Given the description of an element on the screen output the (x, y) to click on. 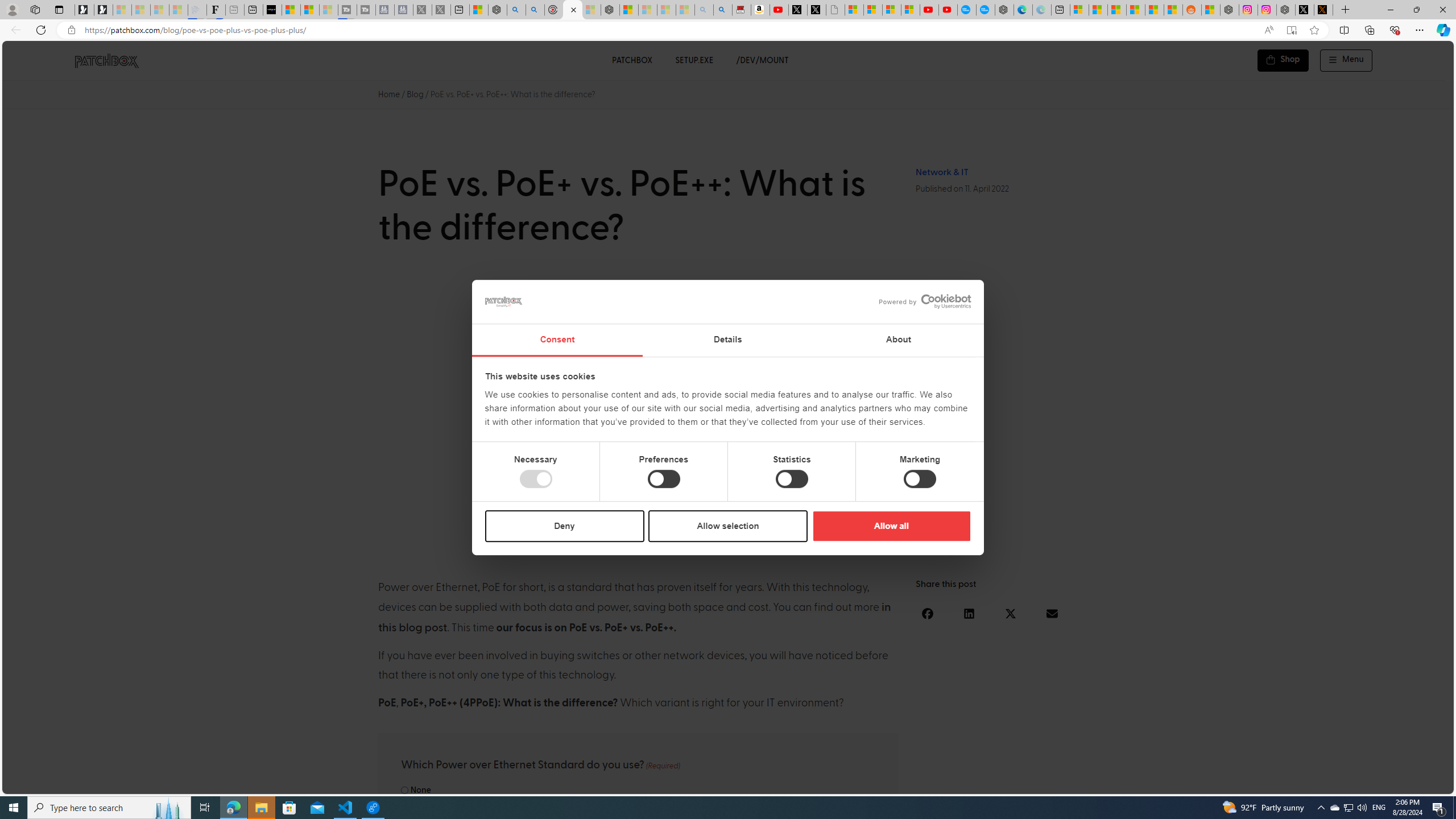
Blog (414, 94)
Language switcher : Klingon (1425, 782)
Language switcher : Slovenian (1333, 782)
Language switcher : Italian (1265, 782)
Shanghai, China hourly forecast | Microsoft Weather (1116, 9)
